Given the description of an element on the screen output the (x, y) to click on. 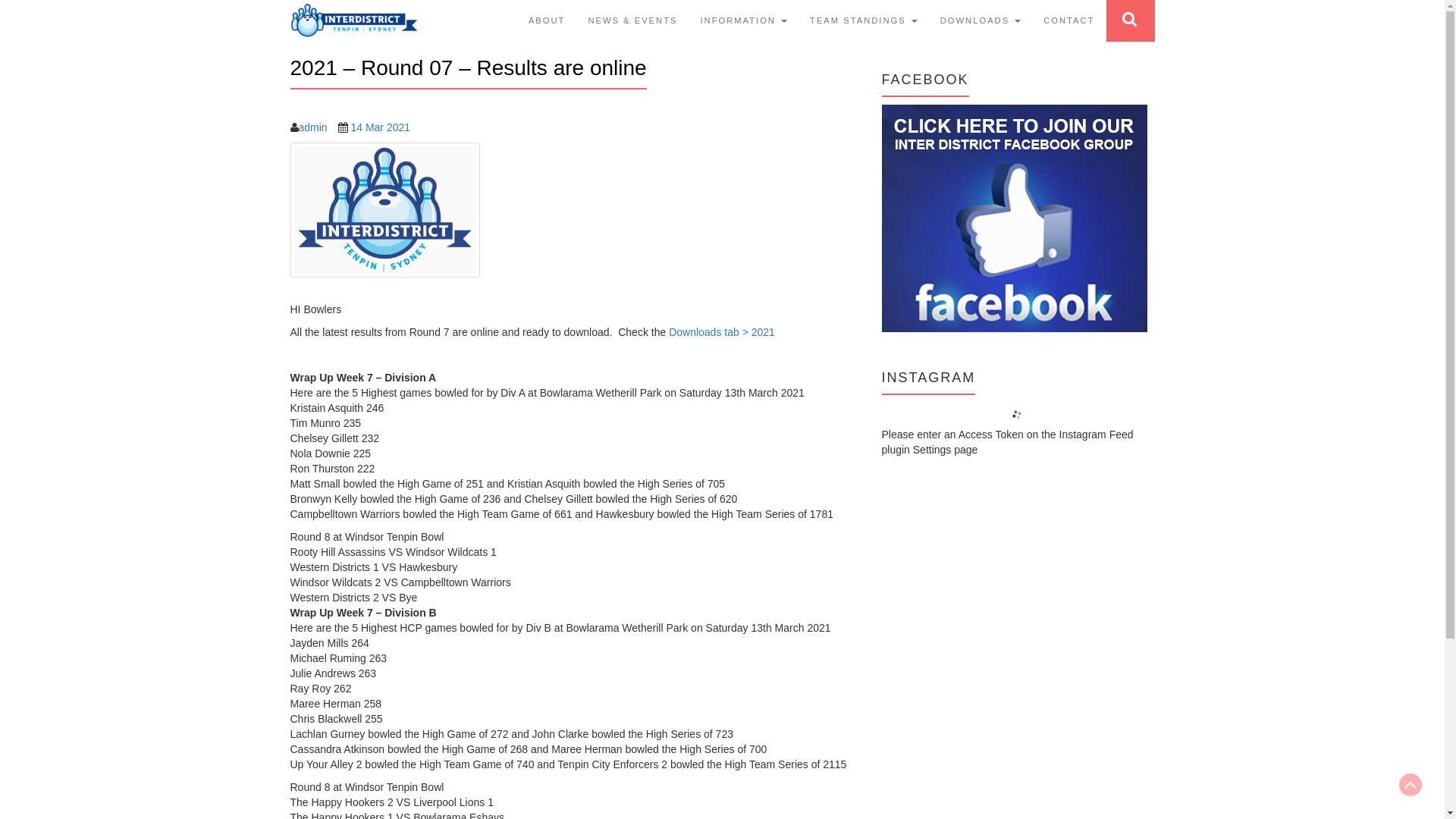
NEWS & EVENTS Element type: text (632, 20)
admin Element type: text (312, 127)
CONTACT Element type: text (1068, 20)
TEAM STANDINGS Element type: text (863, 20)
14 Mar 2021 Element type: text (380, 127)
INFORMATION Element type: text (743, 20)
ABOUT Element type: text (547, 20)
Downloads tab > 2021 Element type: text (721, 332)
DOWNLOADS Element type: text (980, 20)
